Given the description of an element on the screen output the (x, y) to click on. 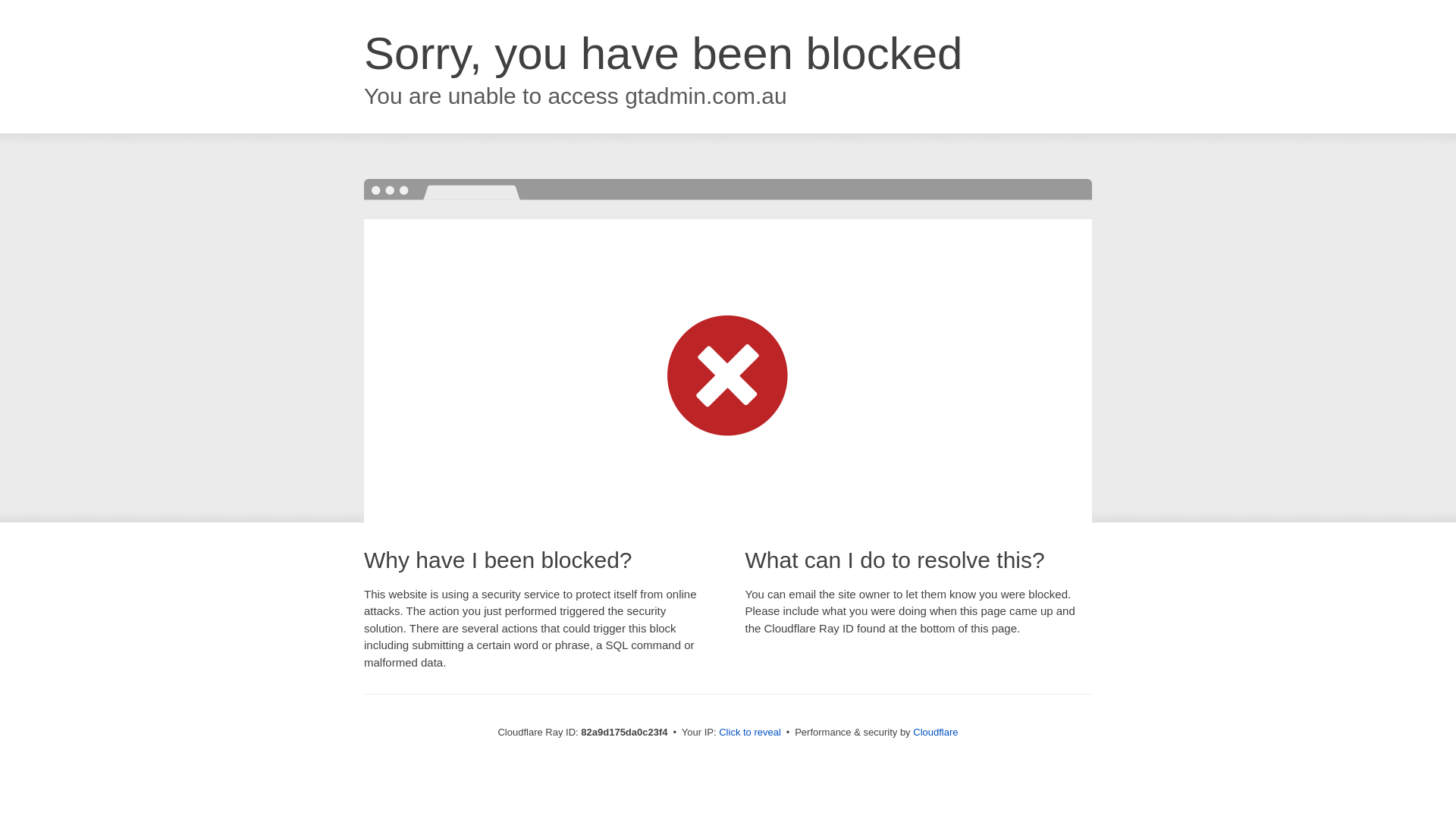
Cloudflare Element type: text (935, 731)
Click to reveal Element type: text (749, 732)
